Given the description of an element on the screen output the (x, y) to click on. 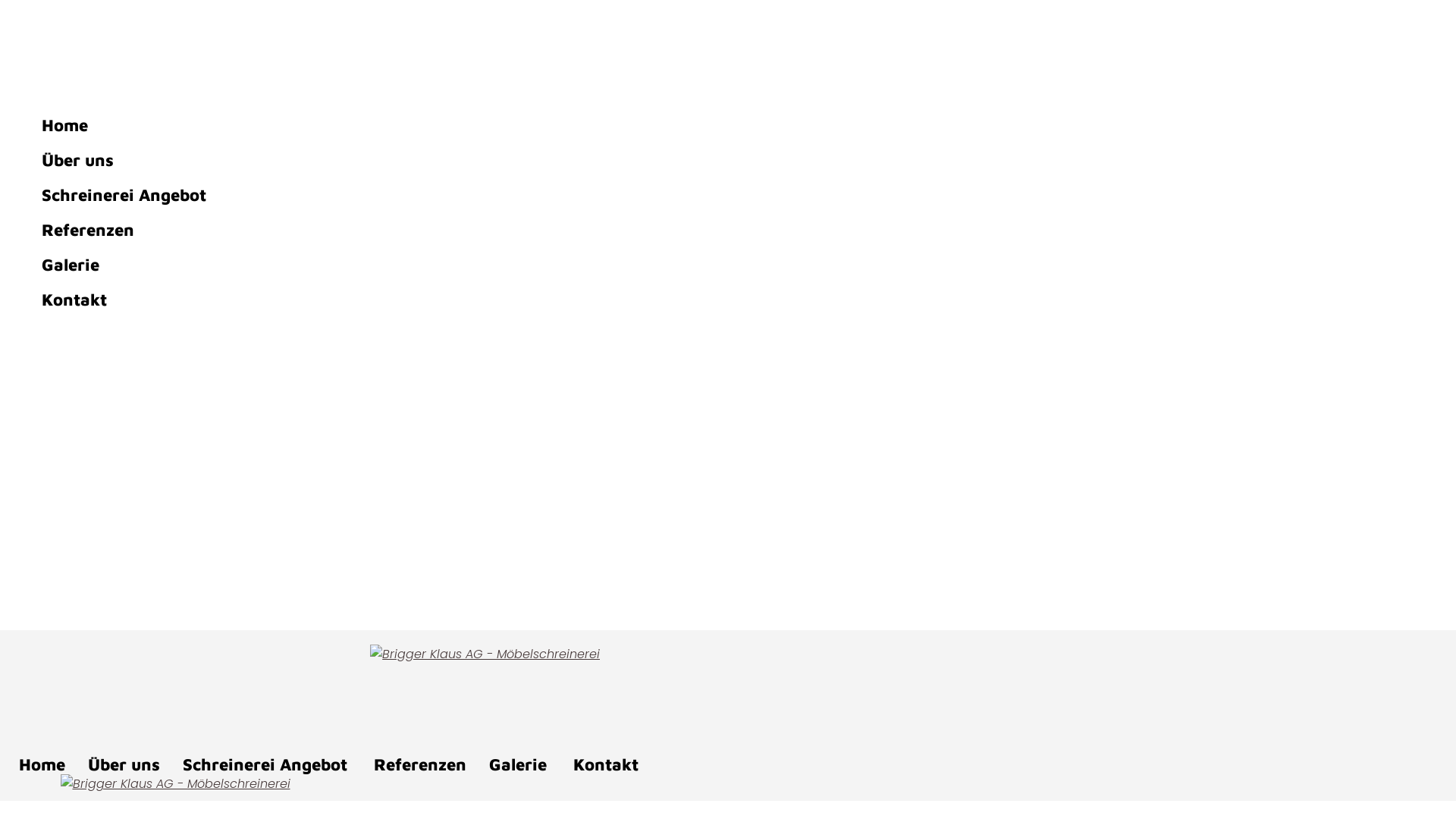
Schreinerei Angebot Element type: text (277, 764)
Kontakt Element type: text (617, 764)
Galerie Element type: text (531, 764)
Schreinerei Angebot Element type: text (393, 194)
Home Element type: text (52, 764)
Galerie Element type: text (393, 264)
Home Element type: text (393, 124)
Referenzen Element type: text (431, 764)
Referenzen Element type: text (393, 229)
Kontakt Element type: text (393, 299)
